Given the description of an element on the screen output the (x, y) to click on. 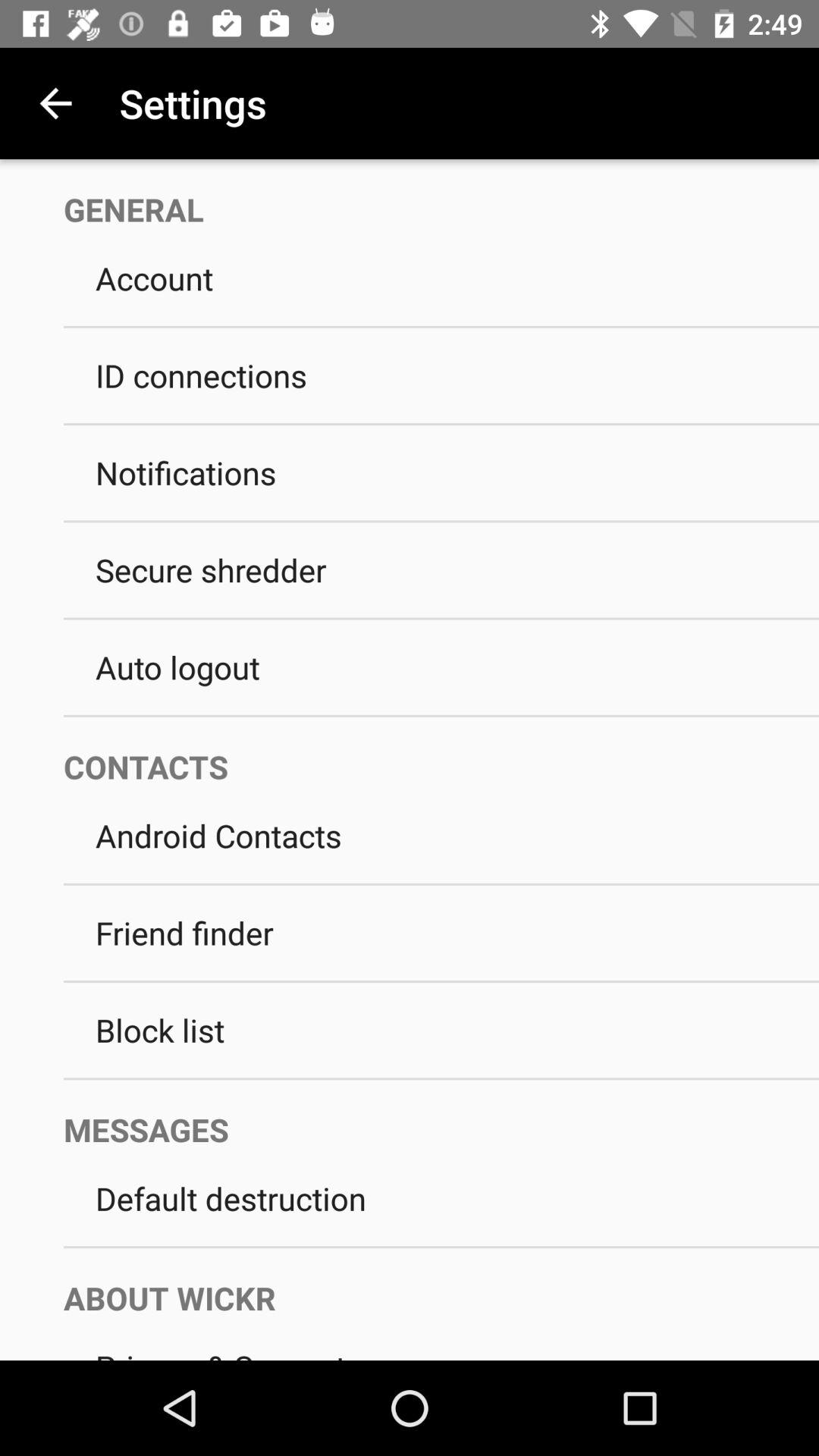
open icon below account (441, 326)
